Given the description of an element on the screen output the (x, y) to click on. 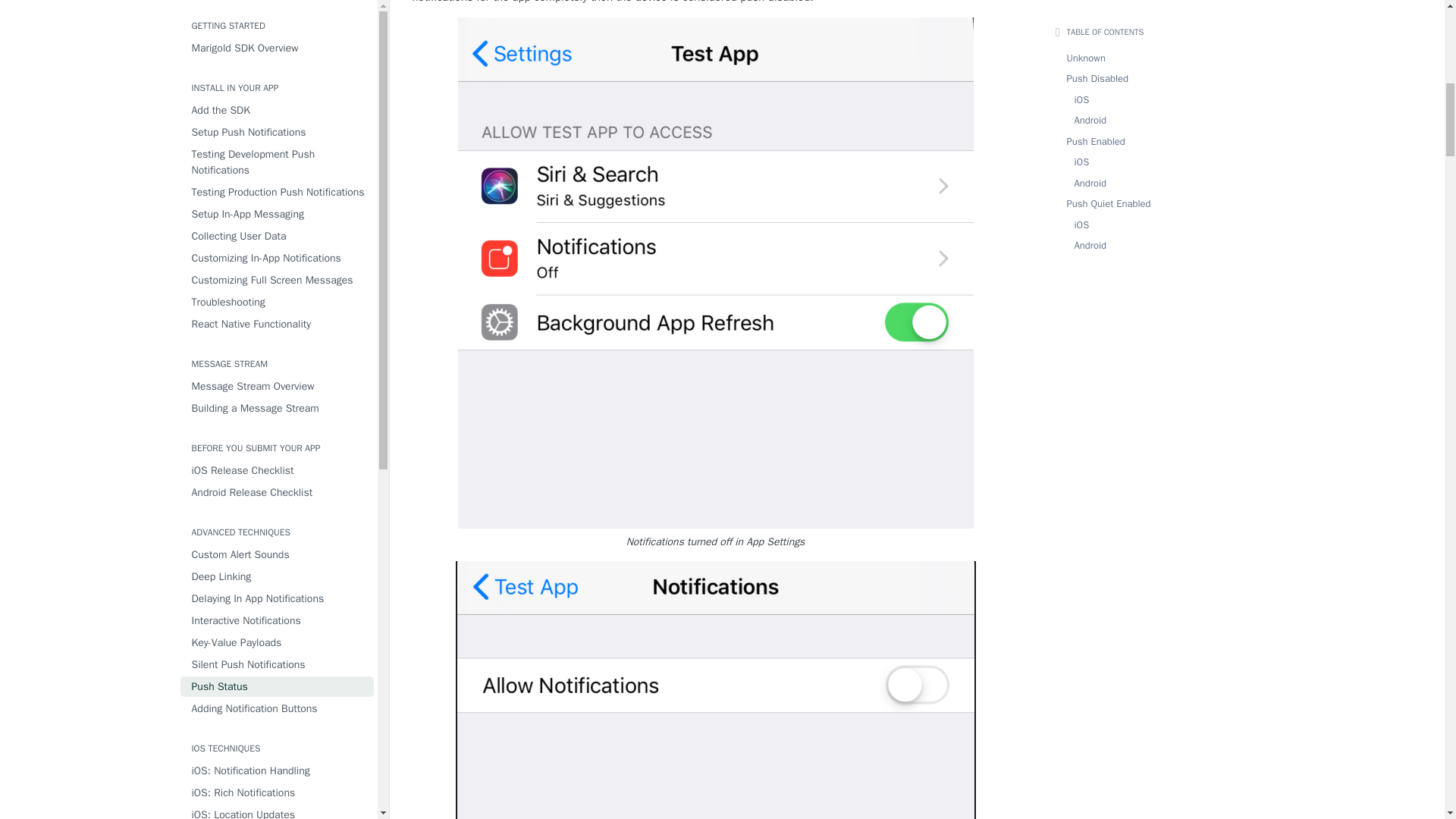
iOS: Delaying the Push Prompt (277, 168)
iOS: Location Updates (277, 65)
iOS: Rich Notifications (277, 43)
iOS: Changing Icons with Push Notifications (277, 117)
iOS: Notification Handling (277, 21)
iOS: Apple Watch (277, 86)
iOS: iBeacons (277, 147)
